Given the description of an element on the screen output the (x, y) to click on. 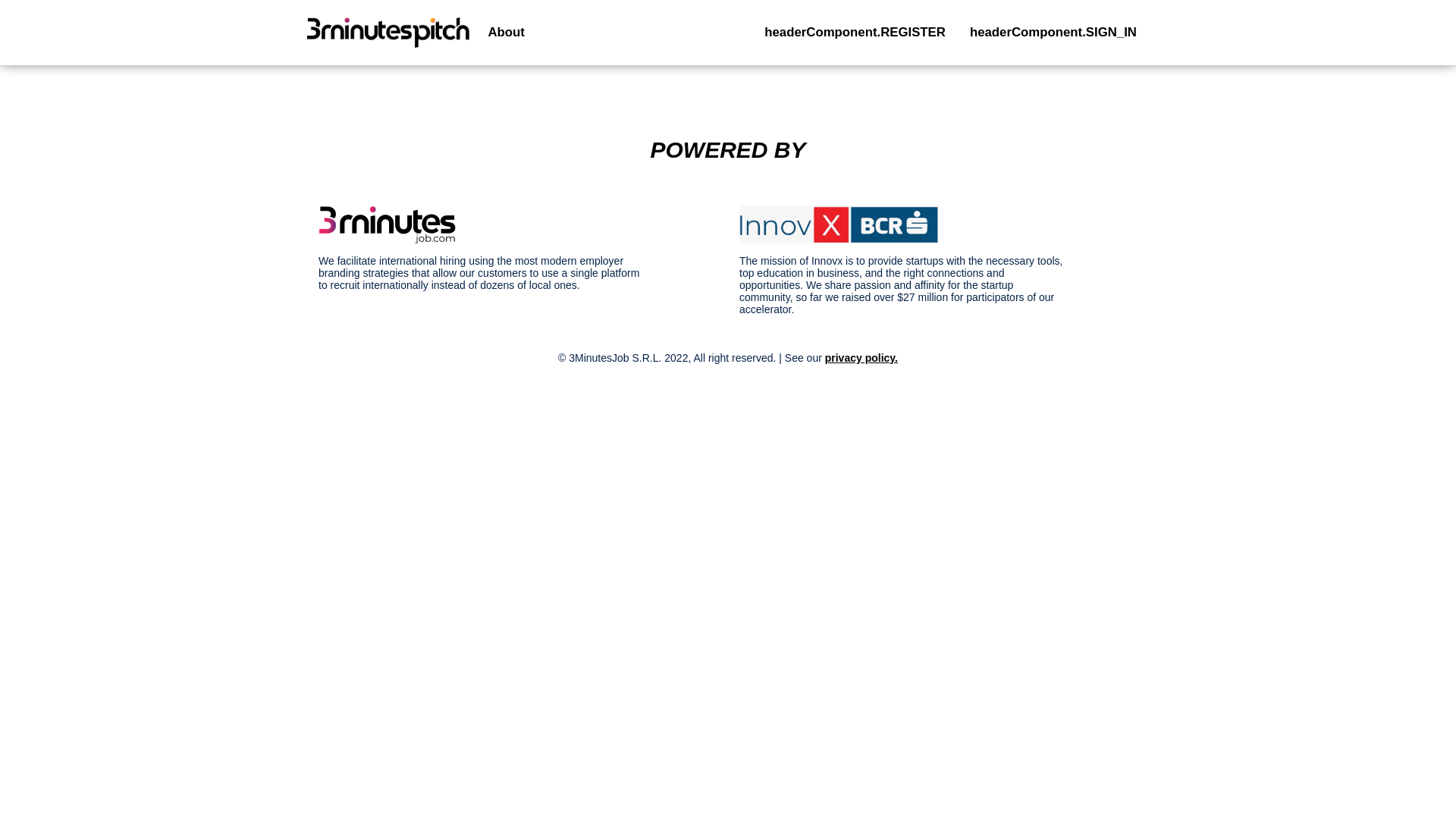
About Element type: text (505, 32)
privacy policy. Element type: text (861, 357)
headerComponent.REGISTER Element type: text (854, 32)
Contact us Element type: hover (536, 24)
headerComponent.SIGN_IN Element type: text (1052, 32)
